Given the description of an element on the screen output the (x, y) to click on. 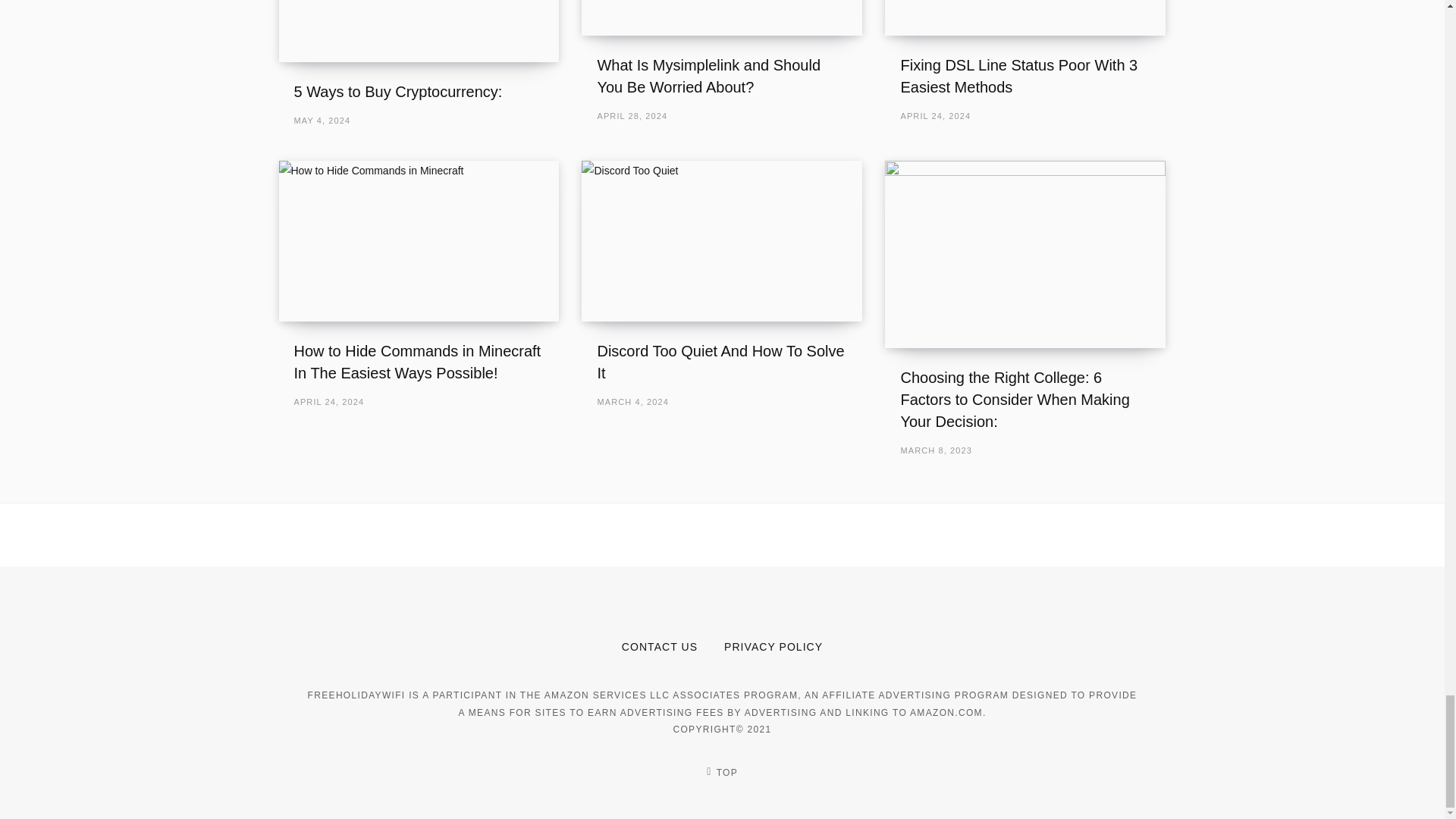
Fixing DSL Line Status Poor With 3 Easiest Methods (1018, 75)
Discord Too Quiet And How To Solve It (720, 240)
Discord Too Quiet And How To Solve It (720, 362)
What Is Mysimplelink and Should You Be Worried About? (708, 75)
Fixing DSL Line Status Poor With 3 Easiest Methods (1025, 17)
What Is Mysimplelink and Should You Be Worried About? (720, 17)
5 Ways to Buy Cryptocurrency: (398, 91)
5 Ways to Buy Cryptocurrency: (419, 30)
